Given the description of an element on the screen output the (x, y) to click on. 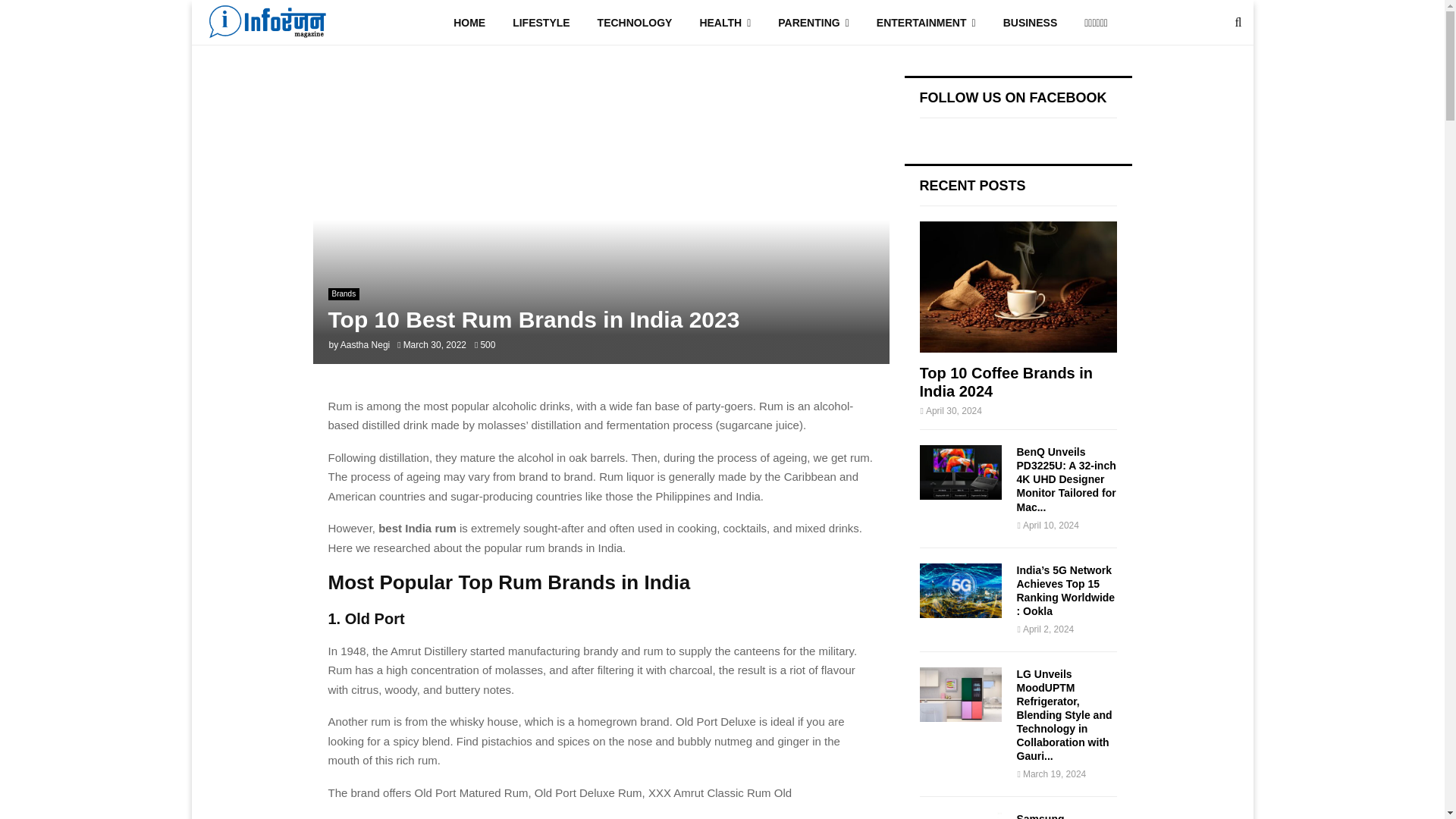
HOME (469, 22)
HEALTH (724, 22)
ENTERTAINMENT (926, 22)
 Top 10 Coffee Brands in India 2024  (1005, 381)
Aastha Negi (365, 344)
PARENTING (813, 22)
